Given the description of an element on the screen output the (x, y) to click on. 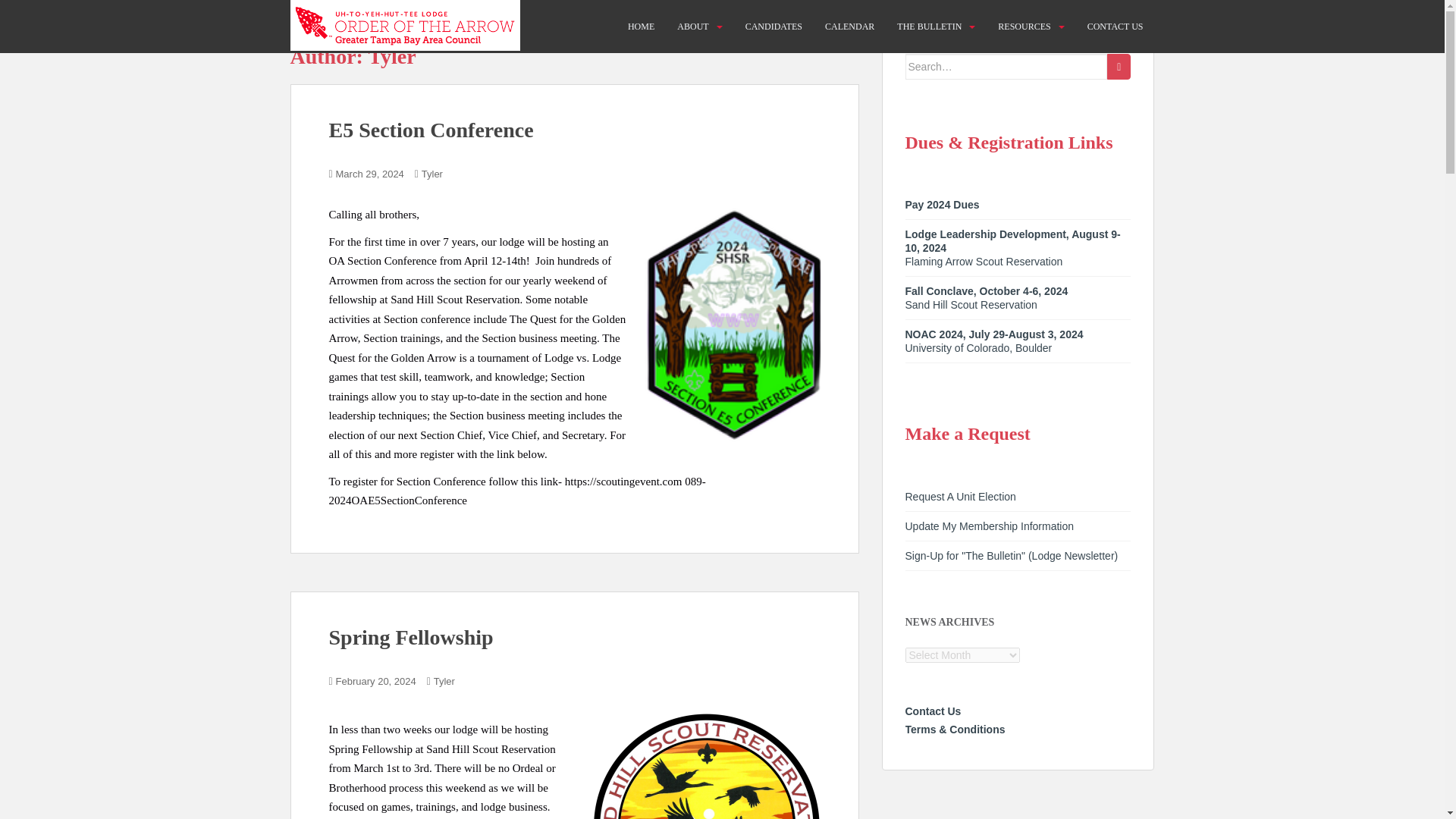
CANDIDATES (773, 26)
ABOUT (692, 26)
February 20, 2024 (376, 681)
Tyler (443, 681)
Tyler (432, 173)
Spring Fellowship (411, 637)
Search for: (1006, 66)
CONTACT US (1114, 26)
RESOURCES (1023, 26)
March 29, 2024 (370, 173)
